Given the description of an element on the screen output the (x, y) to click on. 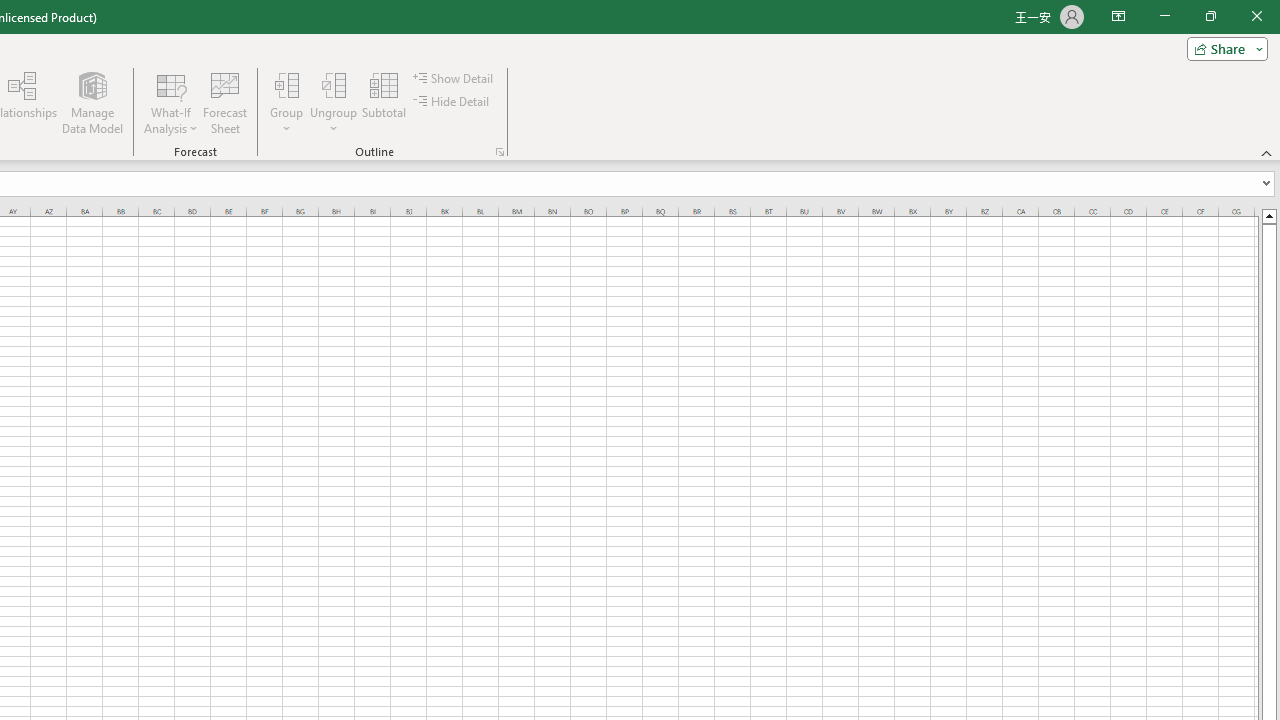
Manage Data Model (92, 102)
Forecast Sheet (224, 102)
